Given the description of an element on the screen output the (x, y) to click on. 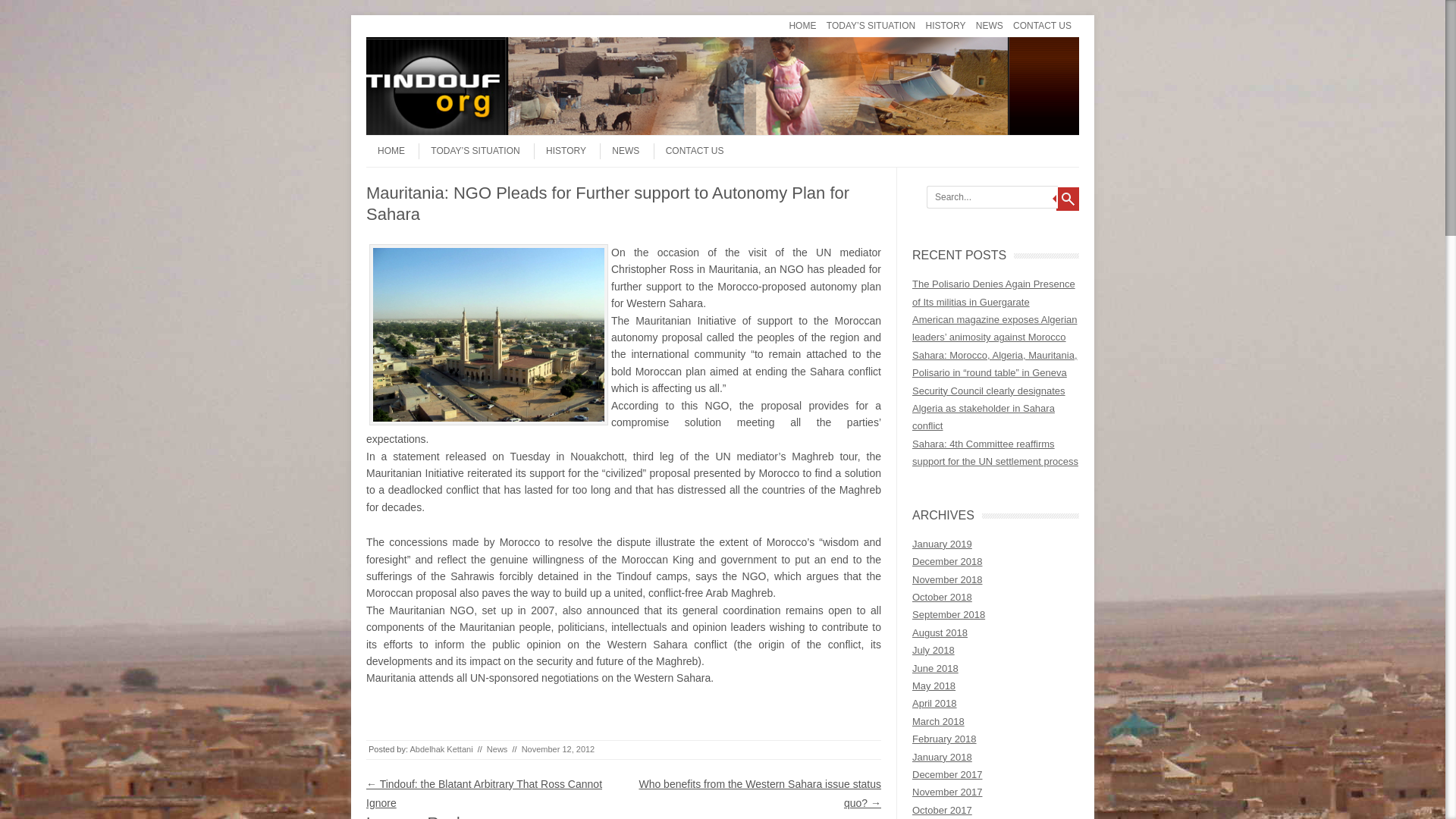
CONTACT US (688, 150)
January 2018 (942, 756)
Skip to content (396, 140)
View all posts by Abdelhak Kettani (440, 748)
HISTORY (560, 150)
News (497, 748)
November 2018 (947, 579)
December 2018 (947, 561)
September 2018 (948, 614)
May 2018 (933, 685)
Skip to content (396, 19)
October 2018 (942, 596)
NEWS (989, 25)
November 12, 2012 (558, 748)
Skip to content (396, 19)
